Given the description of an element on the screen output the (x, y) to click on. 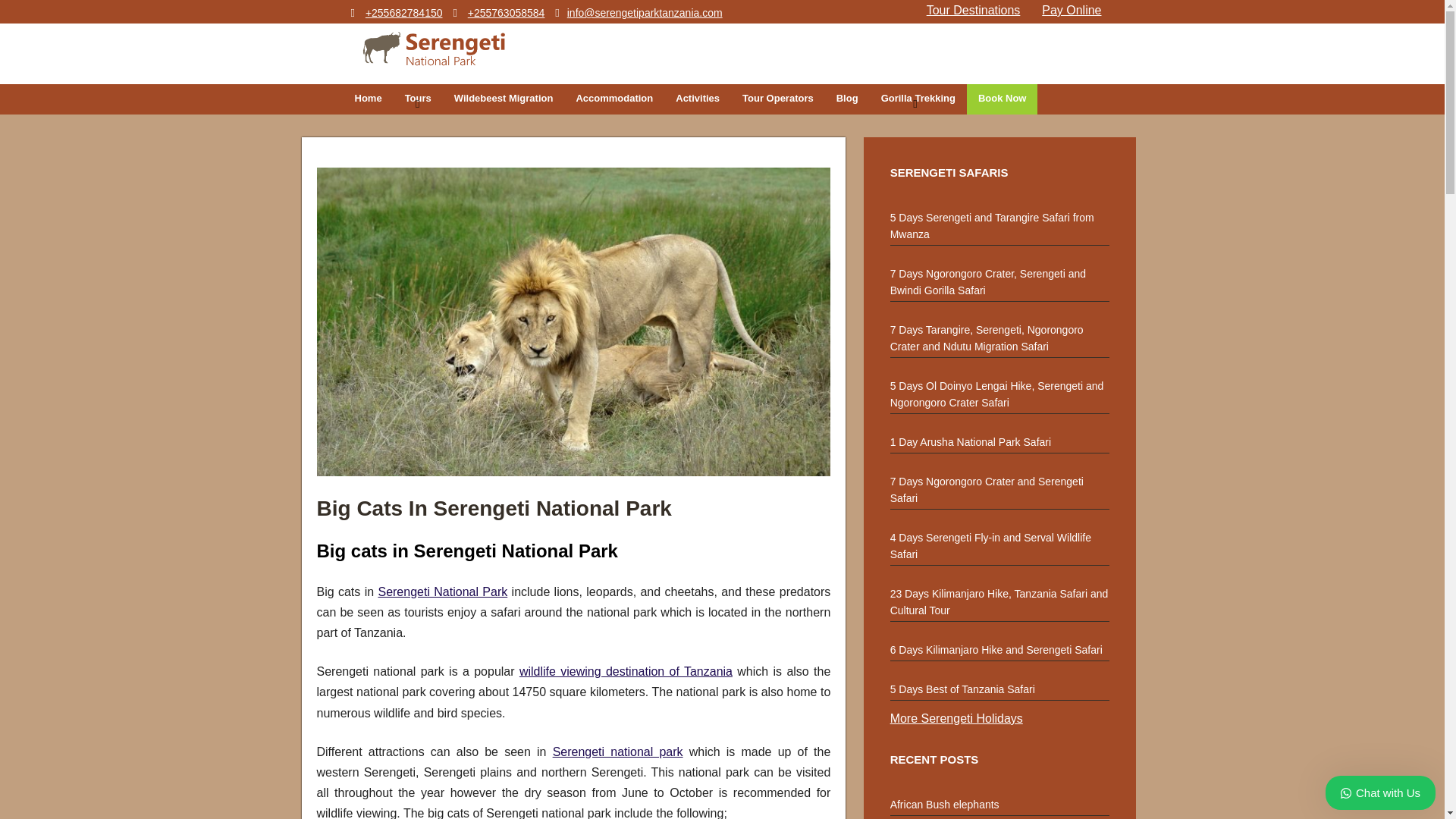
Wildebeest Migration (503, 99)
Serengeti national park (617, 751)
Tour Operators (777, 99)
Accommodation (613, 99)
Tour Destinations (973, 10)
Activities (696, 99)
5 Days Serengeti and Tarangire Safari from Mwanza (999, 222)
Blog (847, 99)
Home (367, 99)
Serengeti National Park (441, 591)
Gorilla Trekking (917, 99)
Pay Online (1071, 10)
wildlife viewing destination of Tanzania (625, 671)
